Given the description of an element on the screen output the (x, y) to click on. 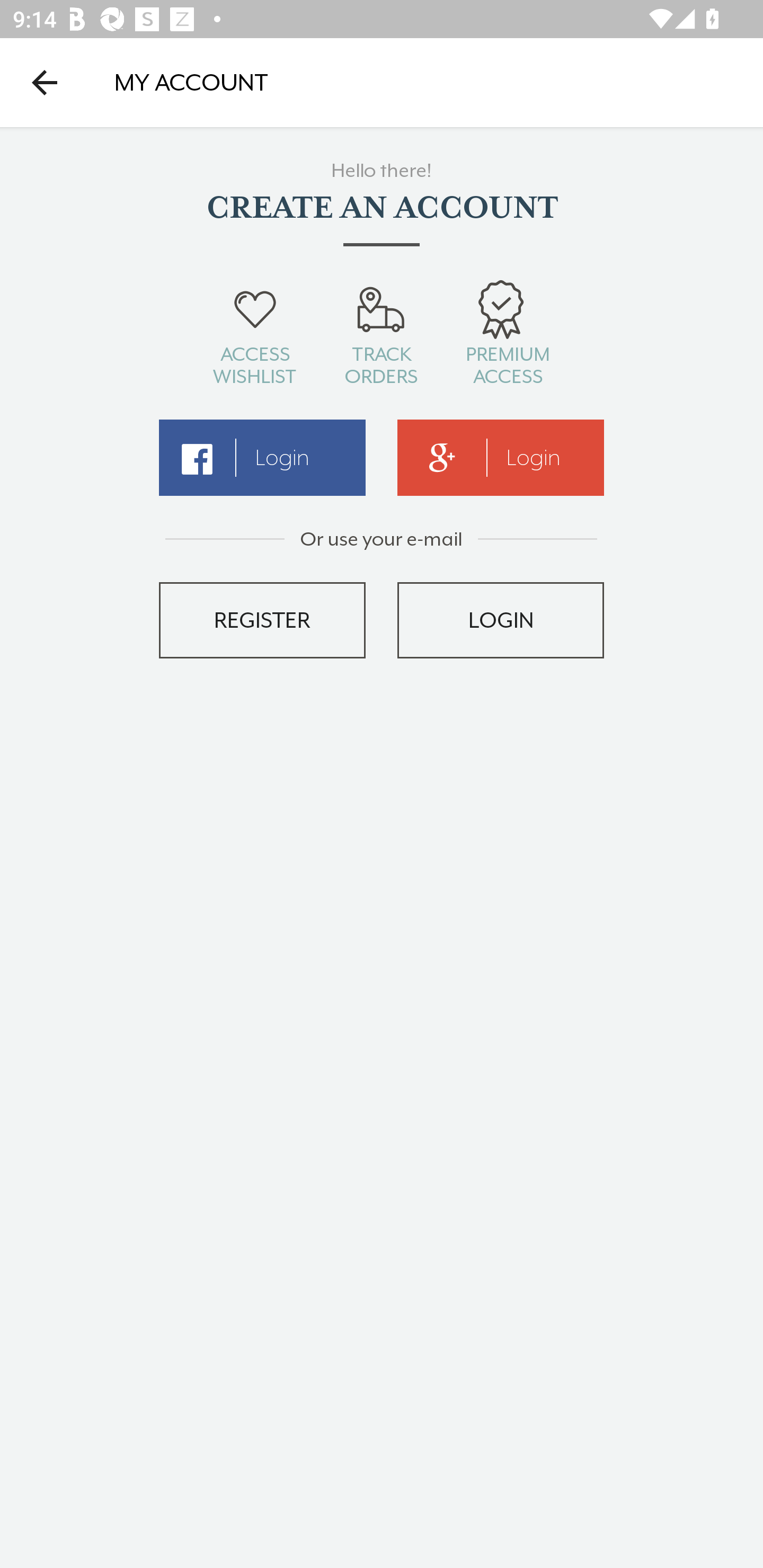
Navigate up (44, 82)
 Login (261, 457)
Login (500, 457)
REGISTER (261, 619)
LOGIN (500, 619)
